Given the description of an element on the screen output the (x, y) to click on. 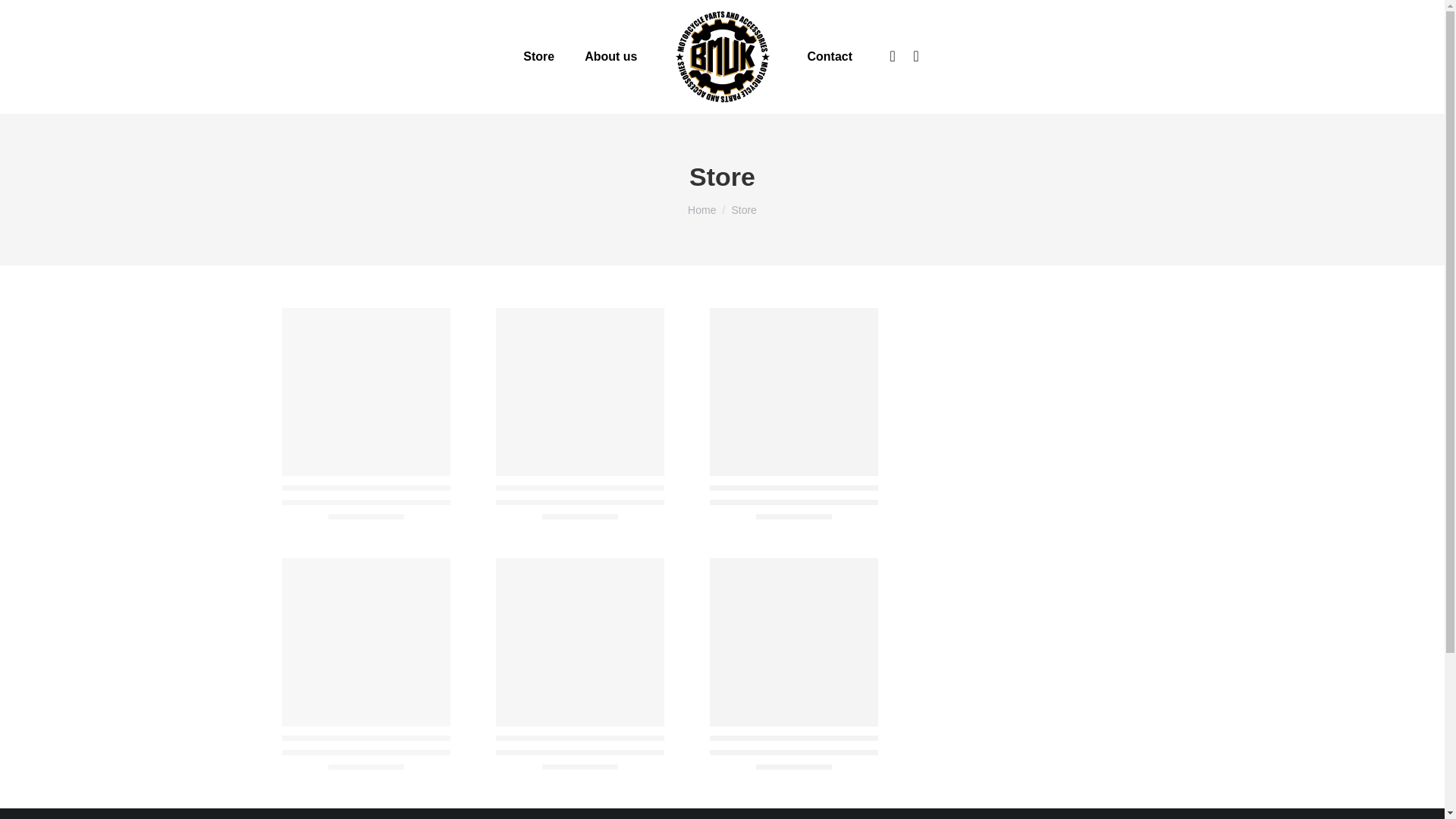
Home (701, 209)
Facebook page opens in new window (892, 55)
Instagram page opens in new window (915, 55)
About us (610, 56)
Facebook page opens in new window (892, 55)
Instagram page opens in new window (915, 55)
